Given the description of an element on the screen output the (x, y) to click on. 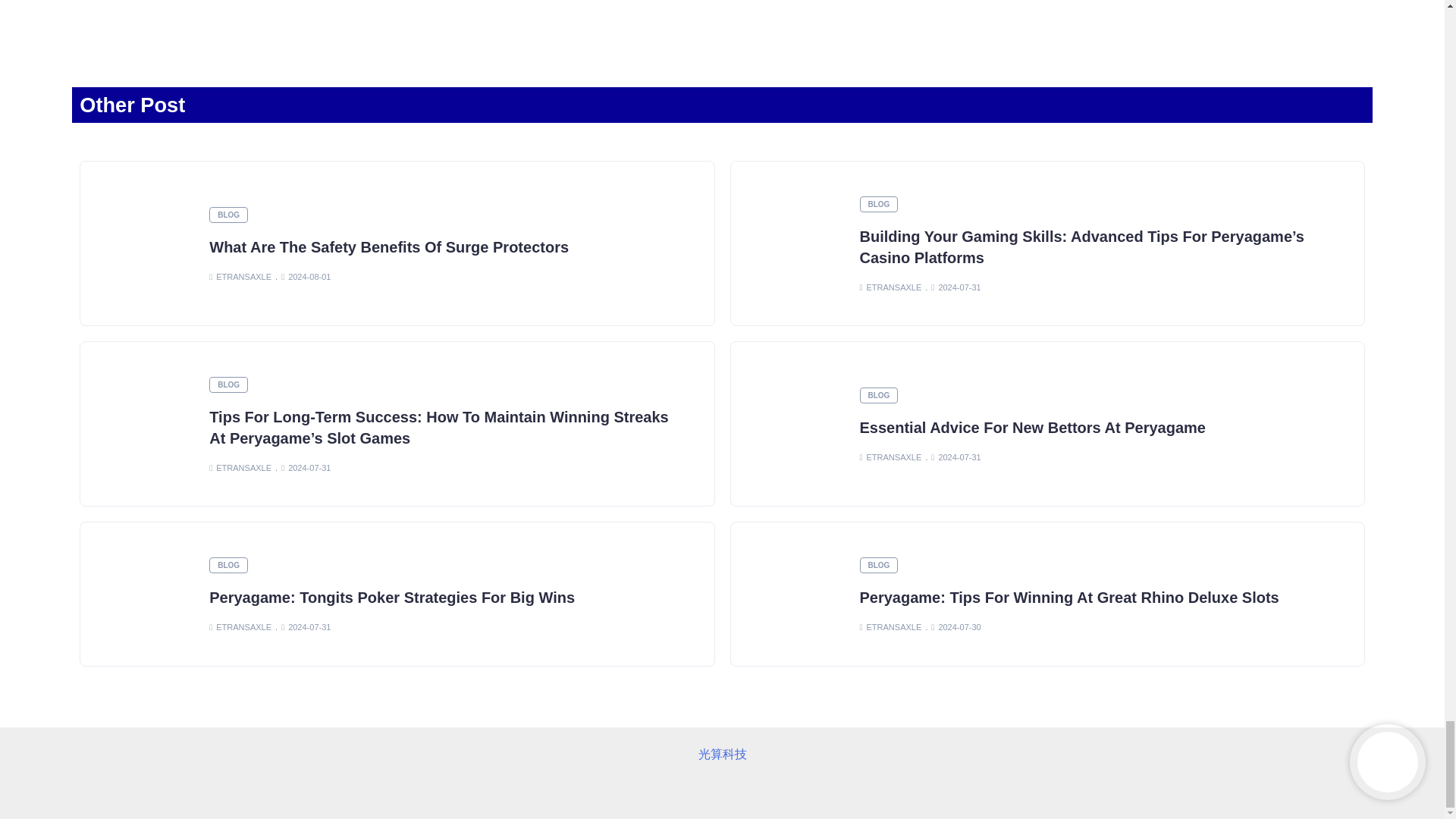
ETRANSAXLE (239, 276)
Essential Advice for New Bettors at peryagame (1032, 427)
BLOG (228, 384)
BLOG (879, 204)
What Are the Safety Benefits of Surge Protectors (389, 247)
Peryagame: Tongits Poker Strategies for Big Wins (392, 597)
What Are The Safety Benefits Of Surge Protectors (389, 247)
BLOG (228, 214)
ETRANSAXLE (890, 287)
